Given the description of an element on the screen output the (x, y) to click on. 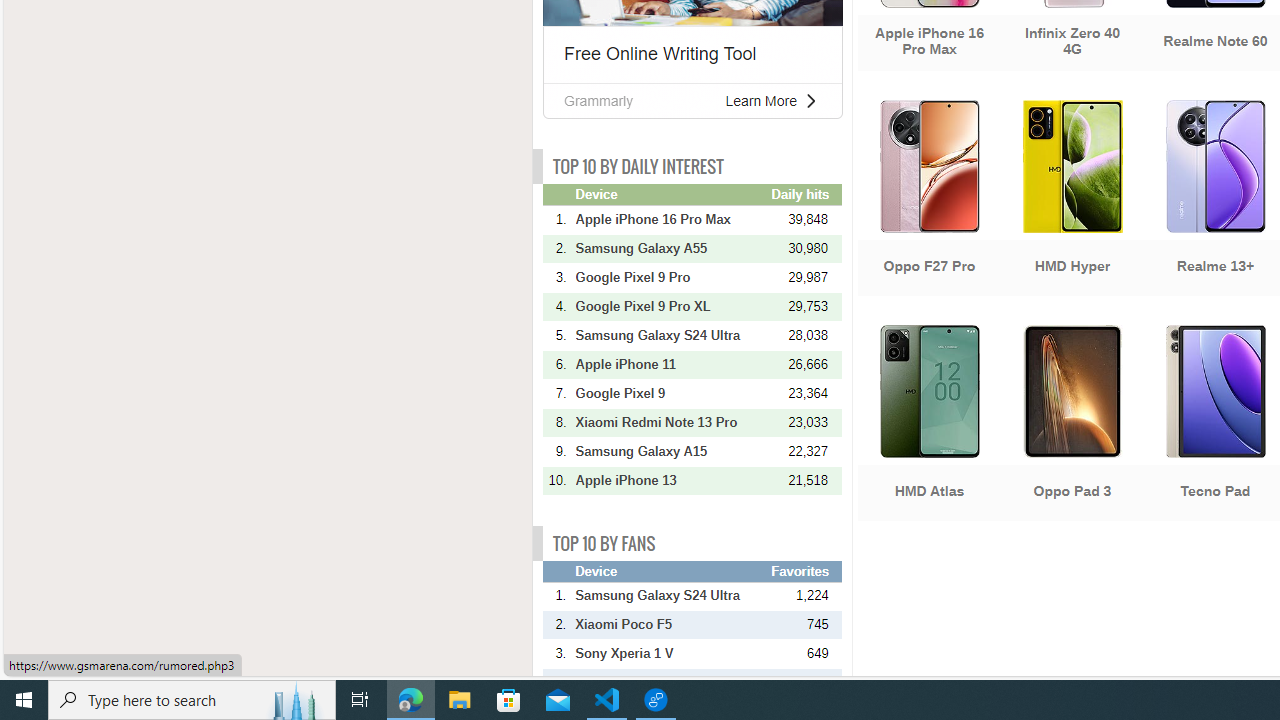
Sony Xperia 1 V (671, 654)
Google Pixel 9 Pro XL (671, 306)
HMD Hyper (1072, 200)
Oppo Pad 3 (1072, 425)
Samsung Galaxy A15 (671, 451)
HMD Atlas (928, 425)
Apple iPhone 16 Pro Max (671, 219)
Xiaomi Redmi Note 13 Pro (671, 422)
Grammarly (598, 100)
Apple iPhone 11 (671, 363)
Google Pixel 9 (671, 393)
Xiaomi Poco F5 (671, 625)
Oppo F27 Pro (928, 200)
Samsung Galaxy A55 (671, 248)
